Given the description of an element on the screen output the (x, y) to click on. 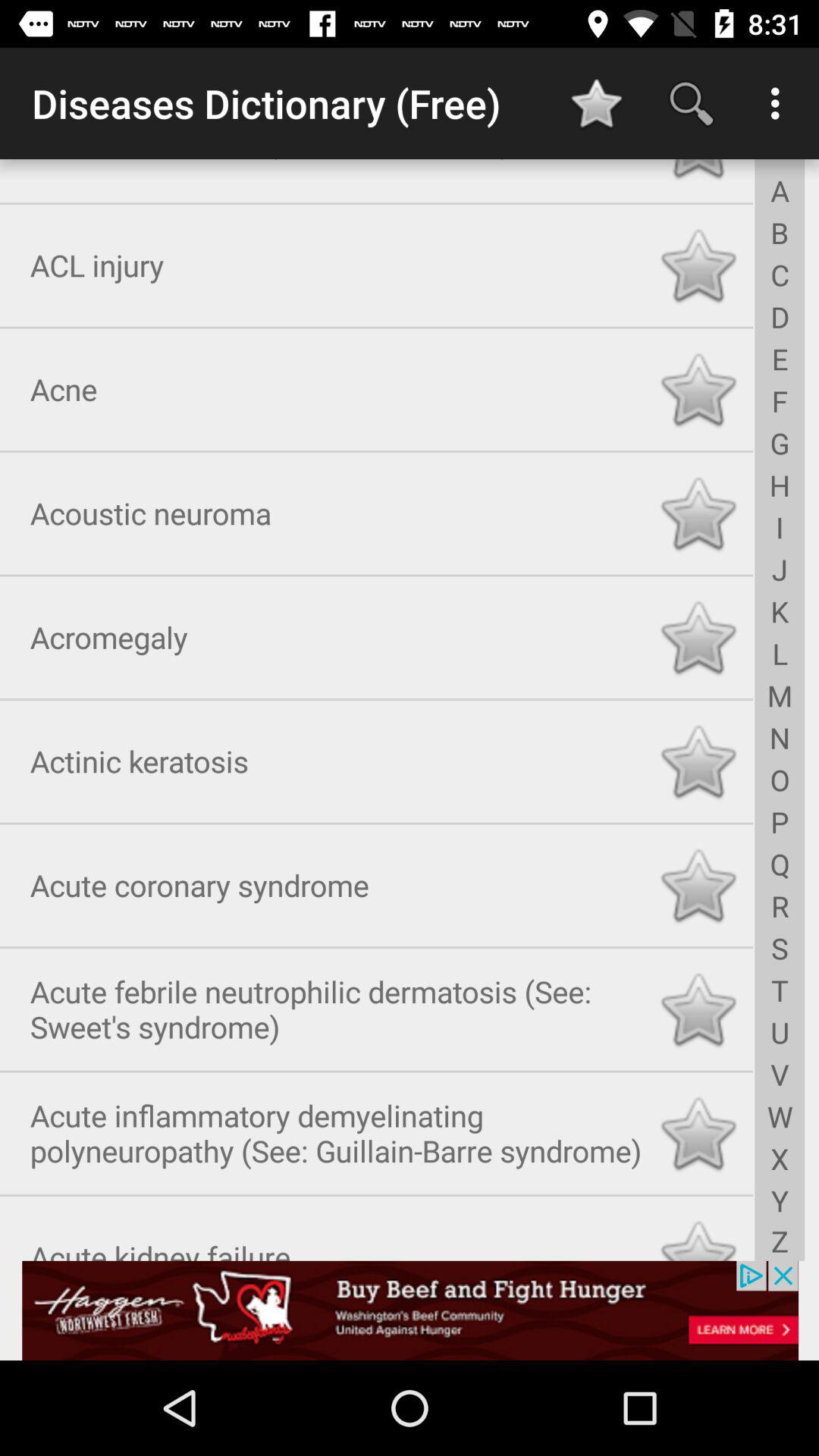
click on add (409, 1310)
